Given the description of an element on the screen output the (x, y) to click on. 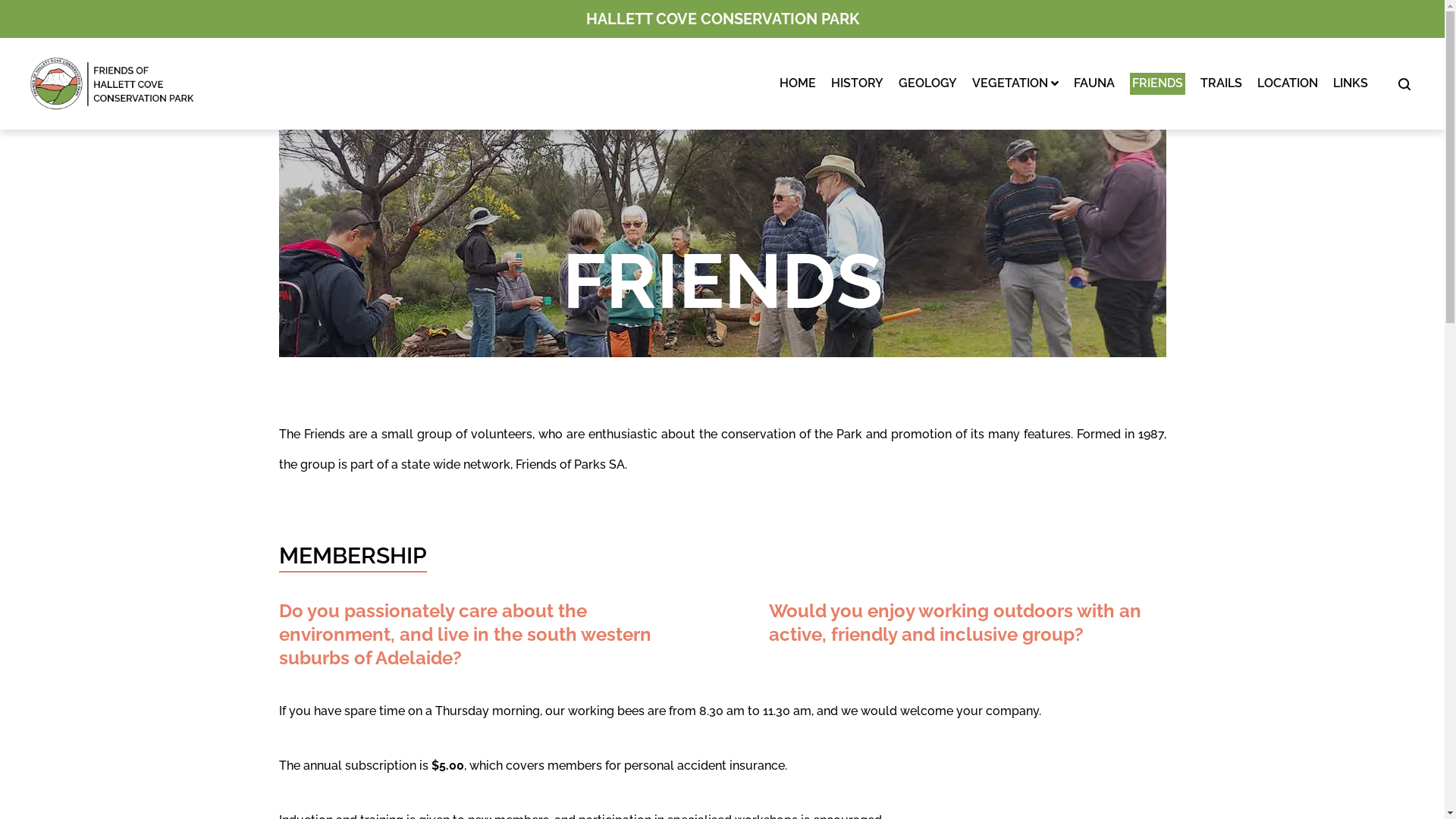
HOME Element type: text (797, 83)
LINKS Element type: text (1350, 83)
HISTORY Element type: text (857, 83)
TRAILS Element type: text (1221, 83)
FAUNA Element type: text (1093, 83)
VEGETATION Element type: text (1015, 83)
FRIENDS Element type: text (1157, 83)
LOCATION Element type: text (1287, 83)
GEOLOGY Element type: text (927, 83)
